Given the description of an element on the screen output the (x, y) to click on. 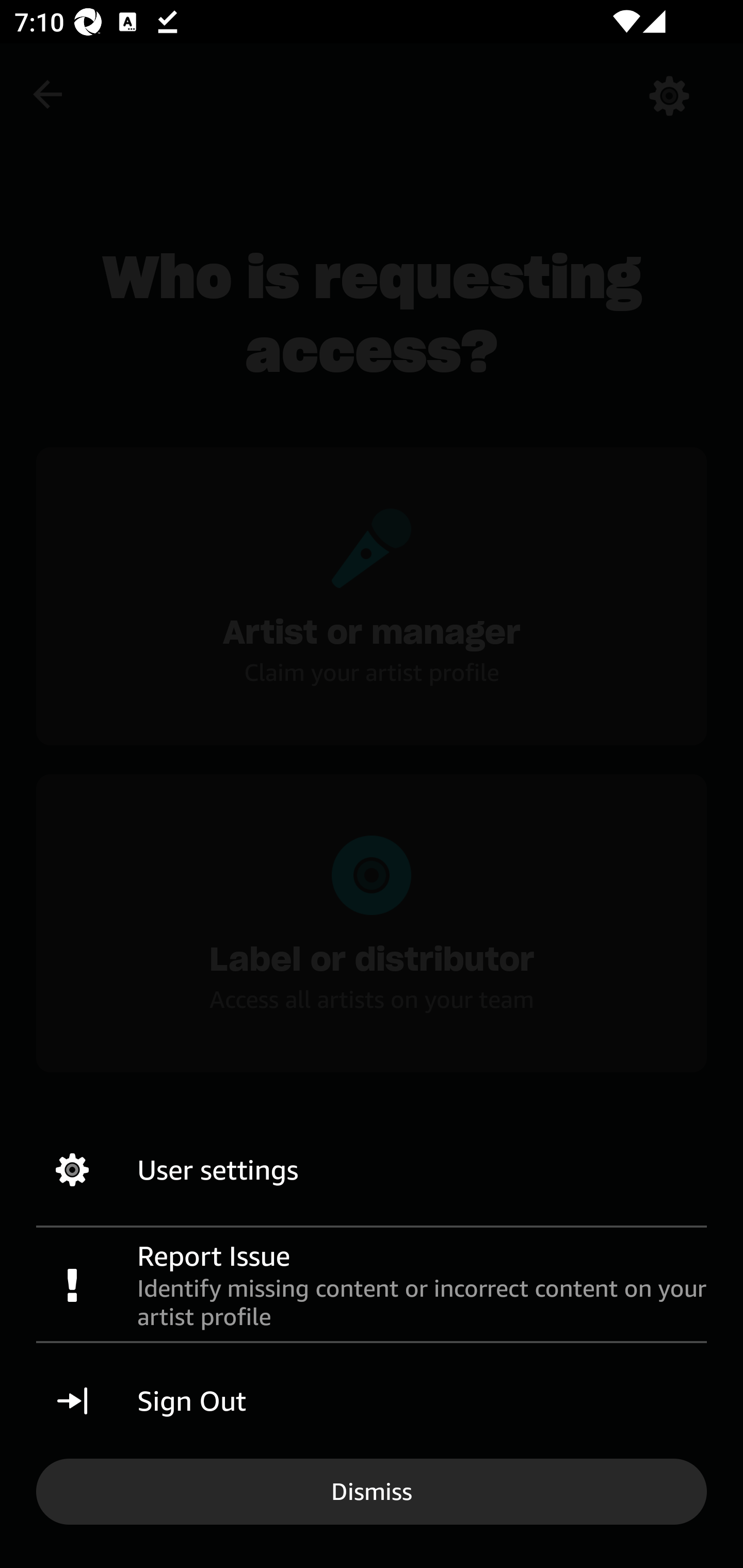
User settings  icon User settings User settings (371, 1169)
Sign Out  icon Sign Out Sign Out (371, 1400)
Dismiss button Dismiss (371, 1491)
